Given the description of an element on the screen output the (x, y) to click on. 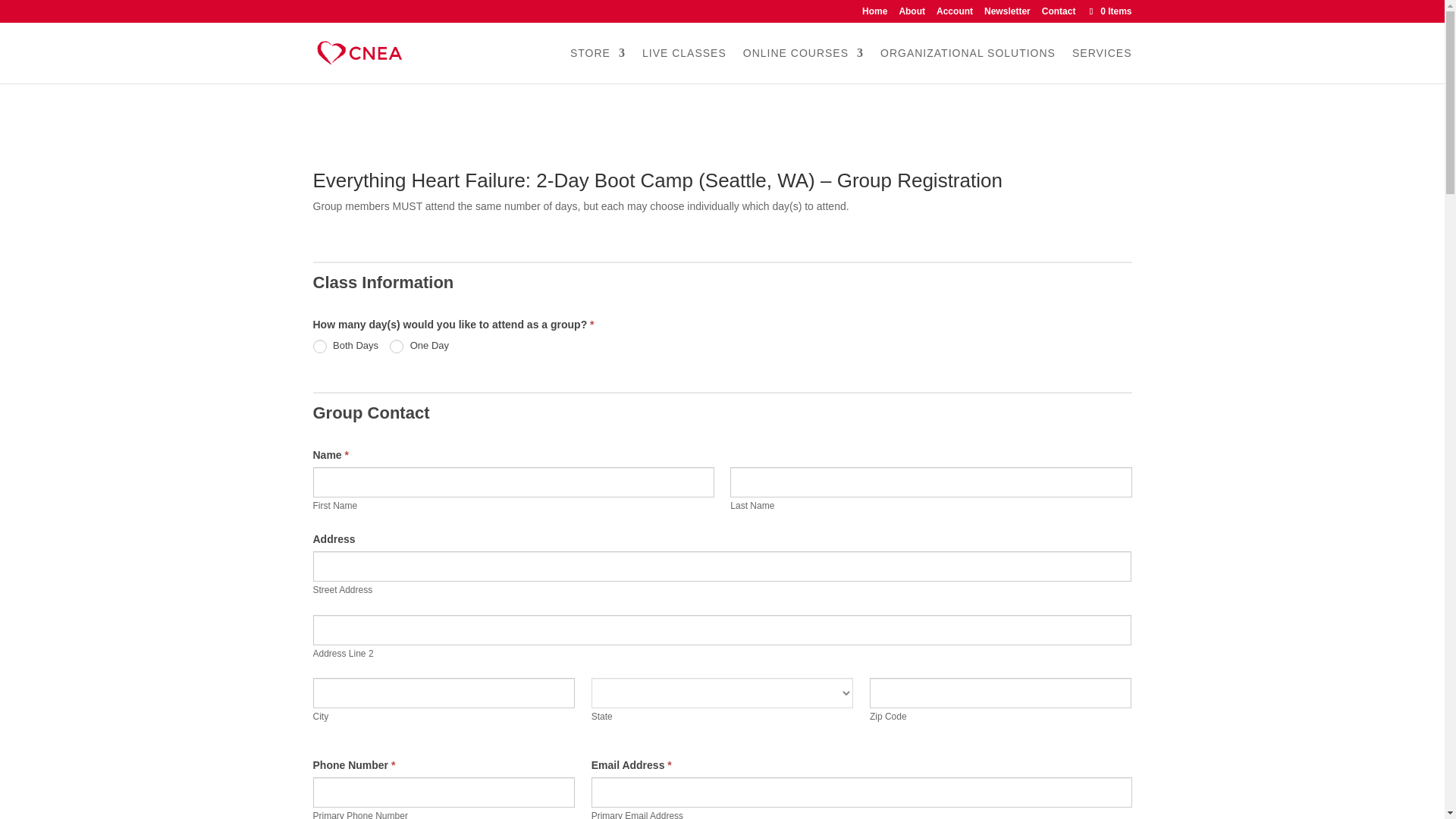
LIVE CLASSES (684, 65)
STORE (598, 65)
Contact (1058, 14)
ORGANIZATIONAL SOLUTIONS (967, 65)
Newsletter (1007, 14)
Home (873, 14)
ONLINE COURSES (802, 65)
0 Items (1108, 10)
SERVICES (1101, 65)
Account (954, 14)
